Given the description of an element on the screen output the (x, y) to click on. 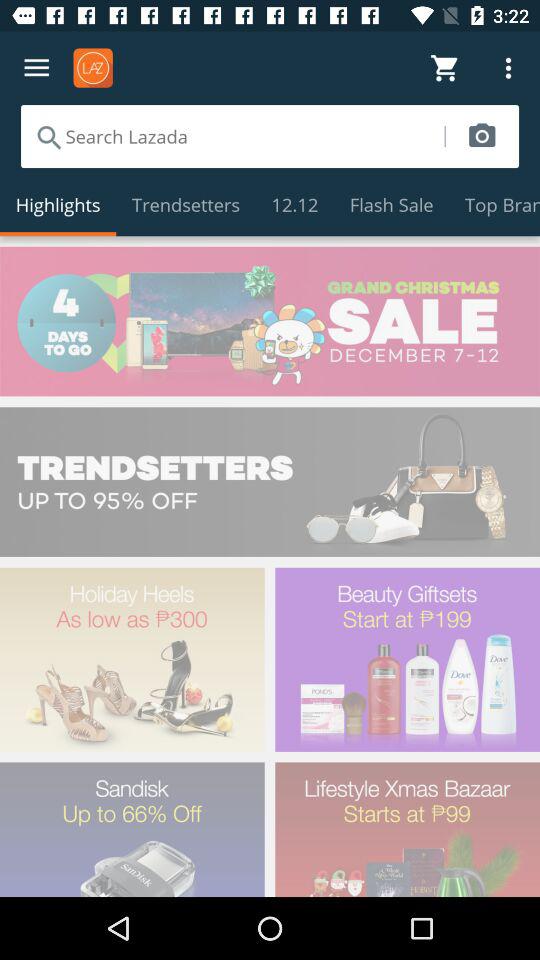
see items on sale (270, 321)
